Given the description of an element on the screen output the (x, y) to click on. 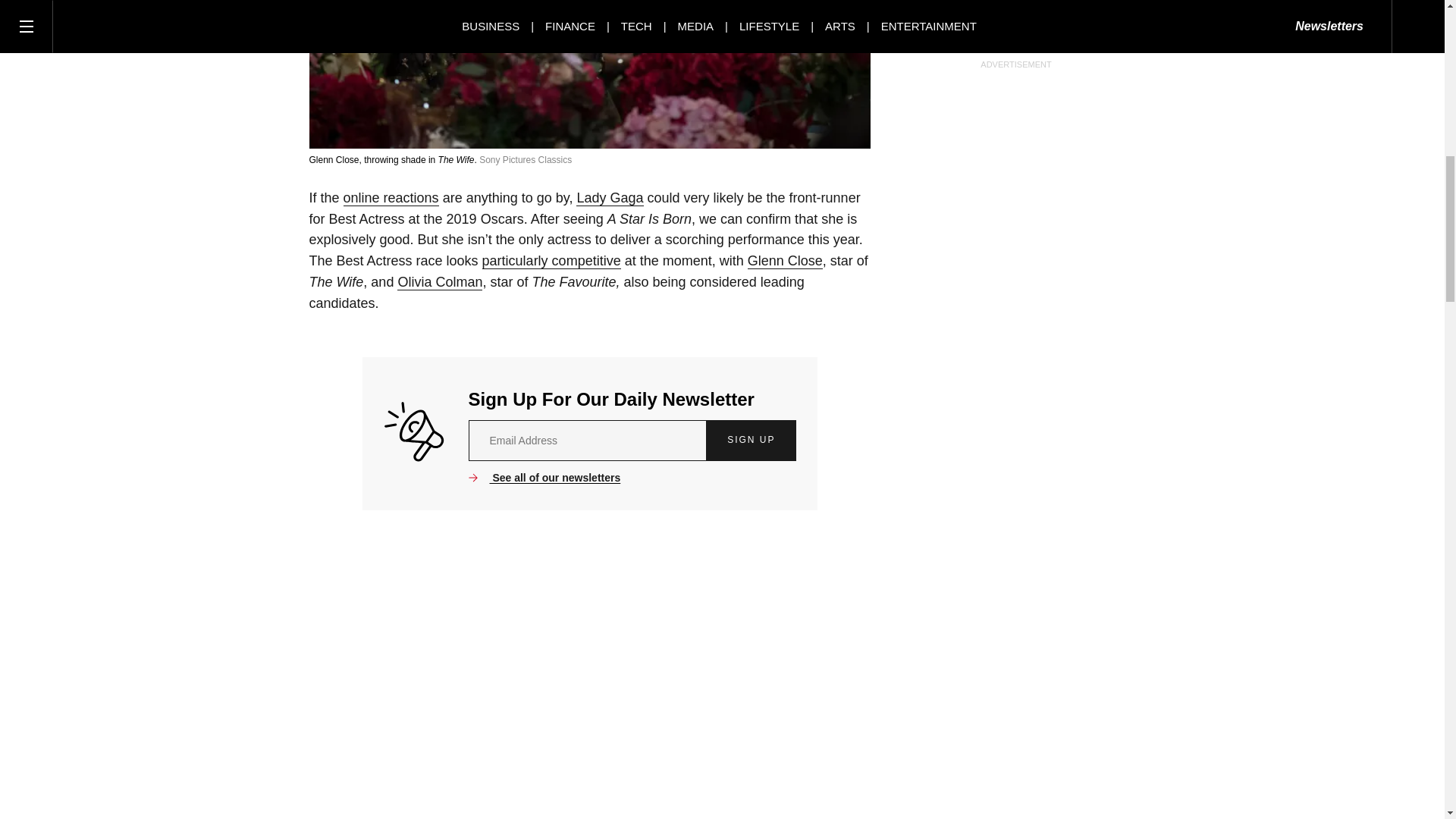
Glenn Close (785, 261)
Lady Gaga (609, 198)
Olivia Colman (439, 282)
